Given the description of an element on the screen output the (x, y) to click on. 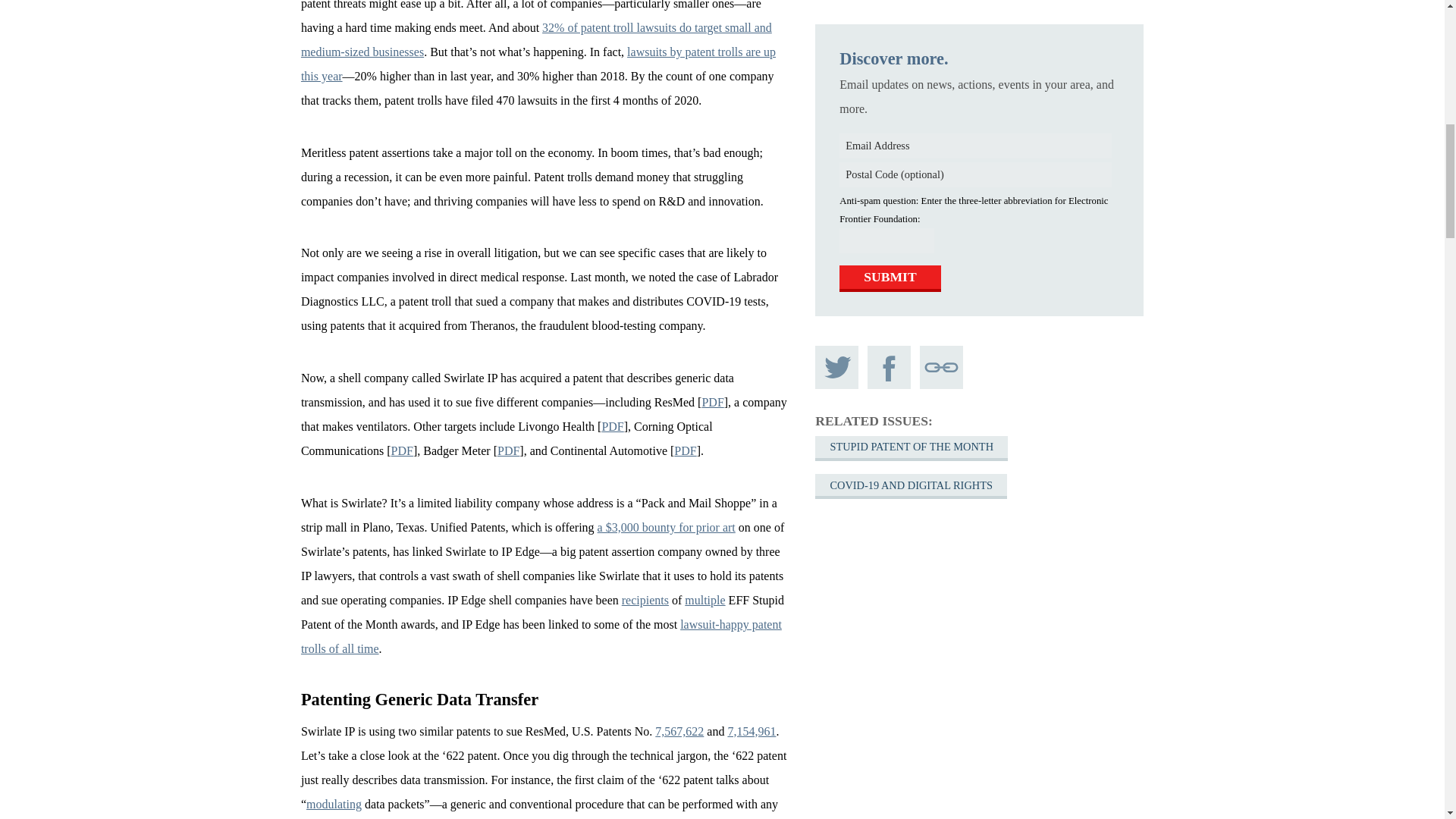
Submit (890, 54)
